Given the description of an element on the screen output the (x, y) to click on. 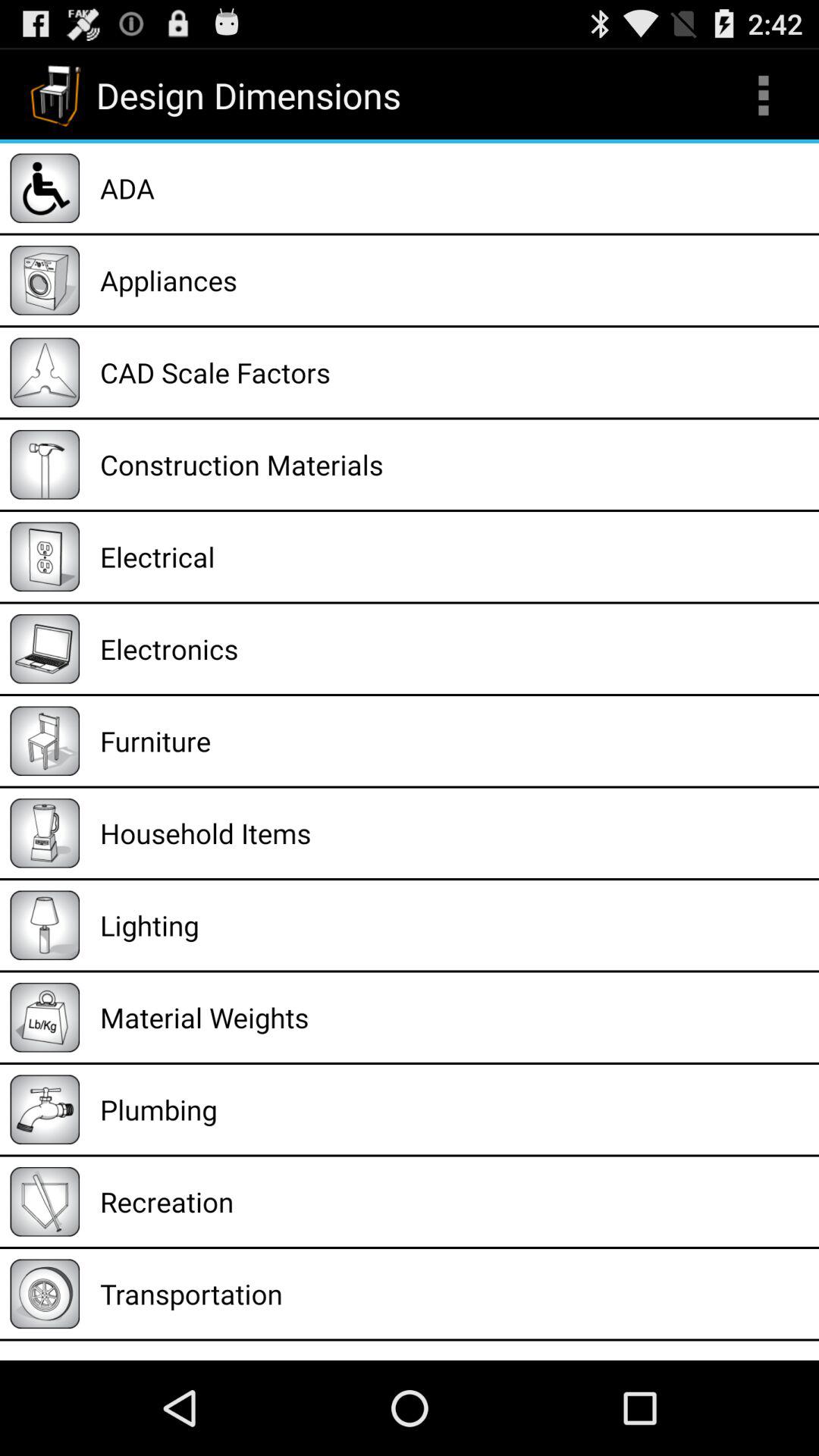
swipe to electronics item (454, 648)
